Given the description of an element on the screen output the (x, y) to click on. 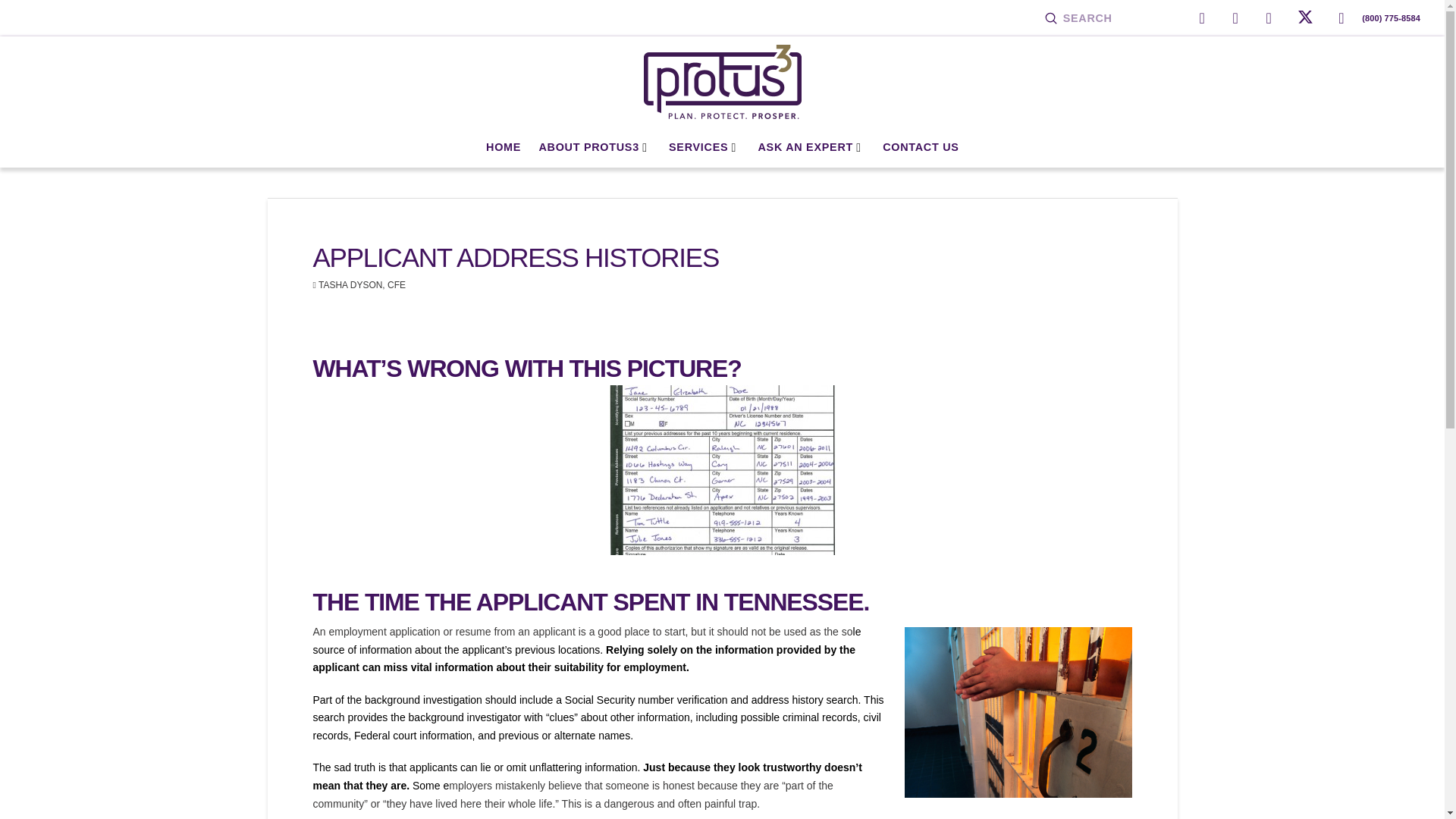
ABOUT PROTUS3 (594, 147)
CONTACT US (920, 147)
ASK AN EXPERT (810, 147)
SERVICES (703, 147)
HOME (503, 147)
Submit (1051, 18)
